Given the description of an element on the screen output the (x, y) to click on. 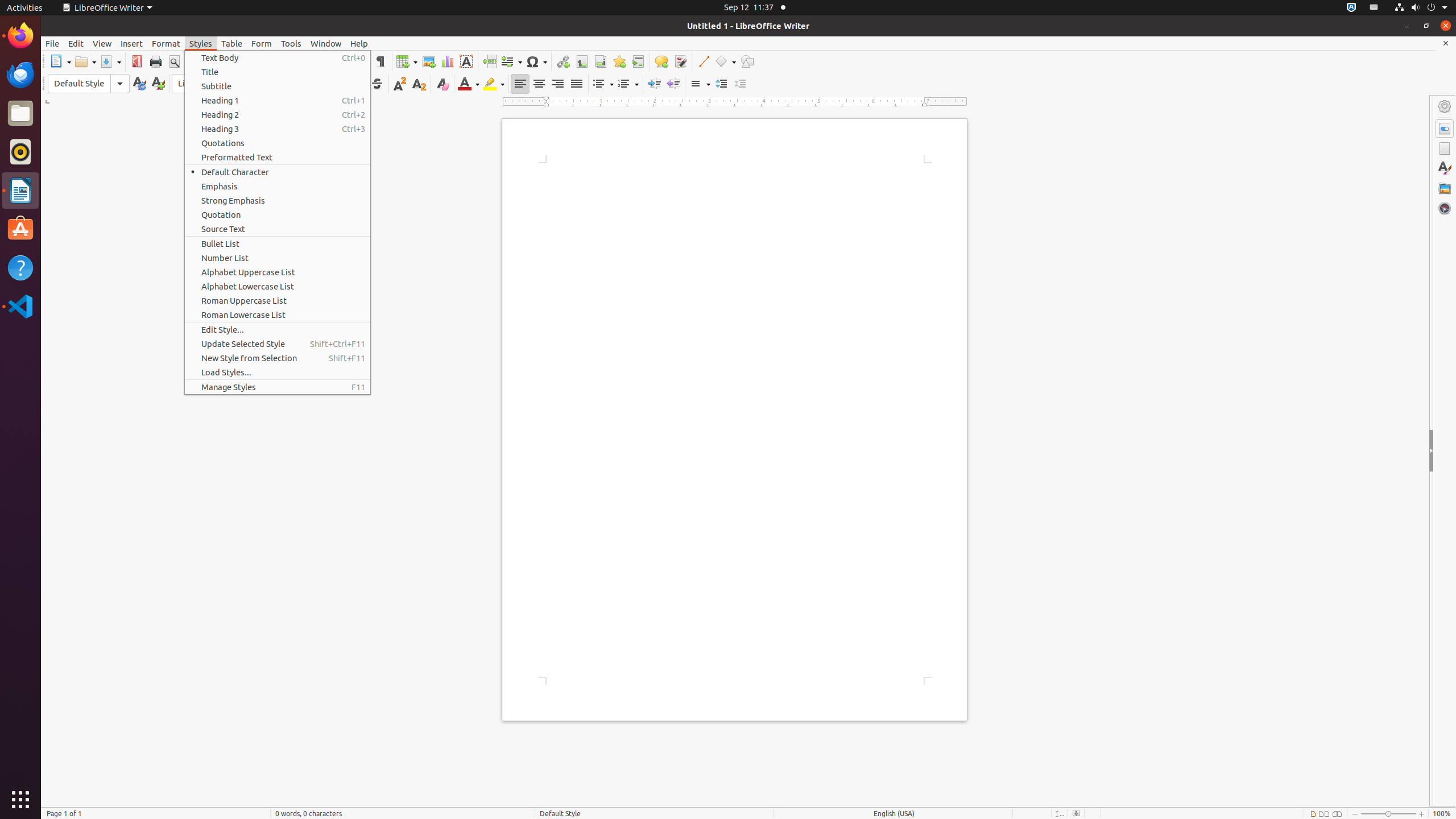
Symbol Element type: push-button (535, 61)
Gallery Element type: radio-button (1444, 188)
